Given the description of an element on the screen output the (x, y) to click on. 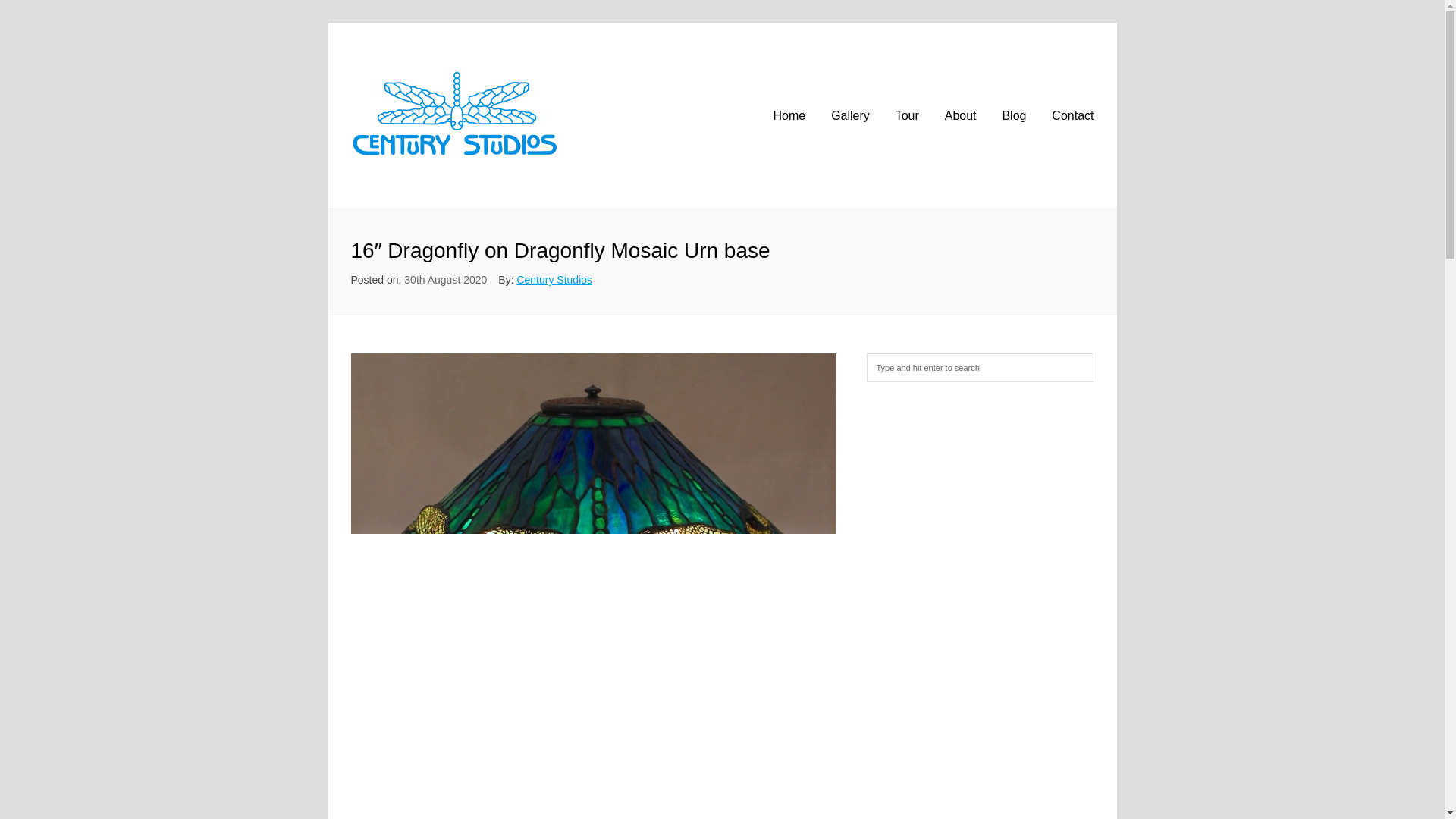
About (960, 115)
Gallery (850, 115)
Home (789, 115)
Tour (906, 115)
Contact (1072, 115)
Century Studios (554, 279)
Type and hit enter to search (979, 367)
Type and hit enter to search (979, 367)
Posts by Century Studios (554, 279)
Blog (1013, 115)
